Given the description of an element on the screen output the (x, y) to click on. 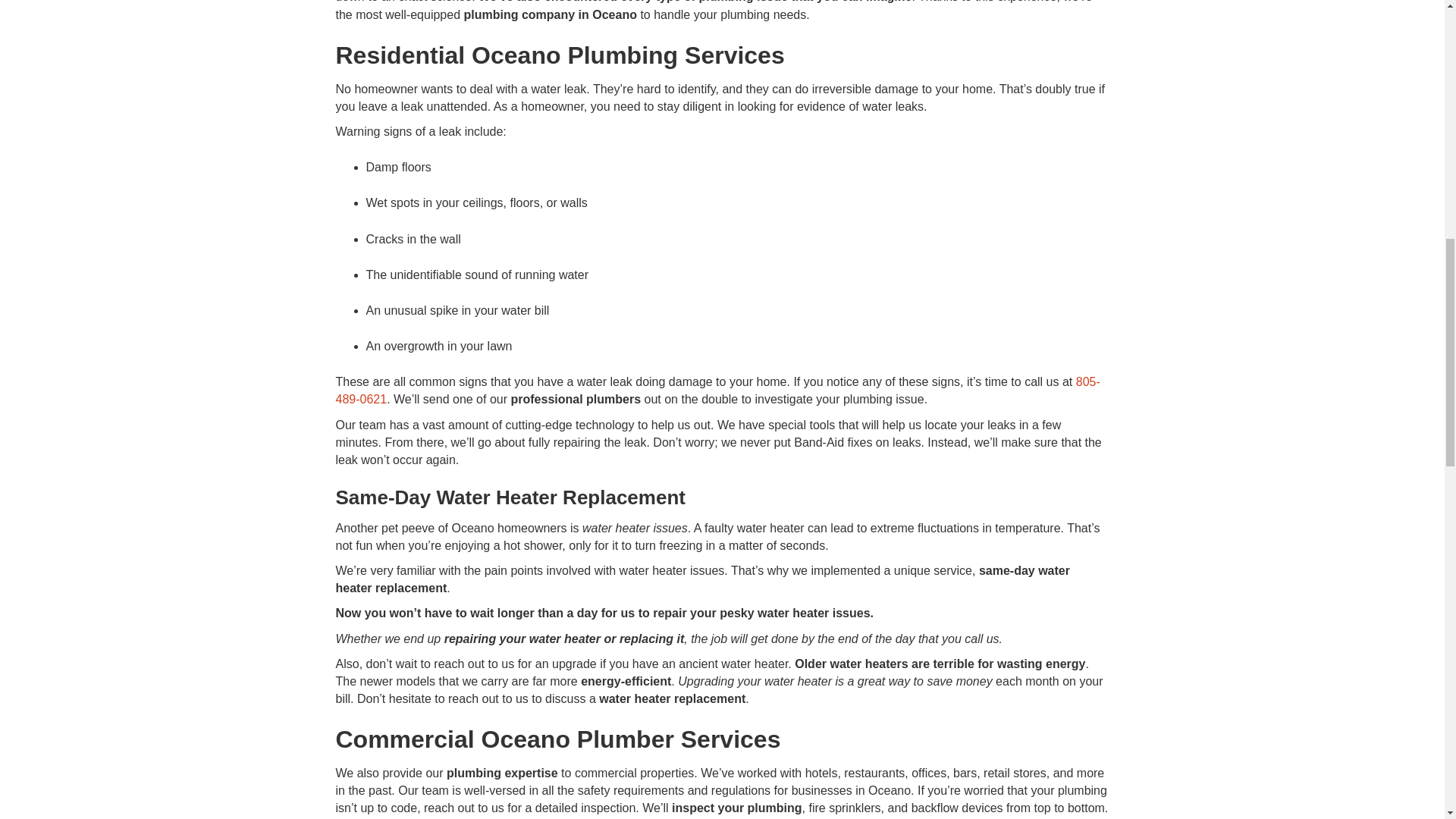
805-489-0621 (716, 390)
